Given the description of an element on the screen output the (x, y) to click on. 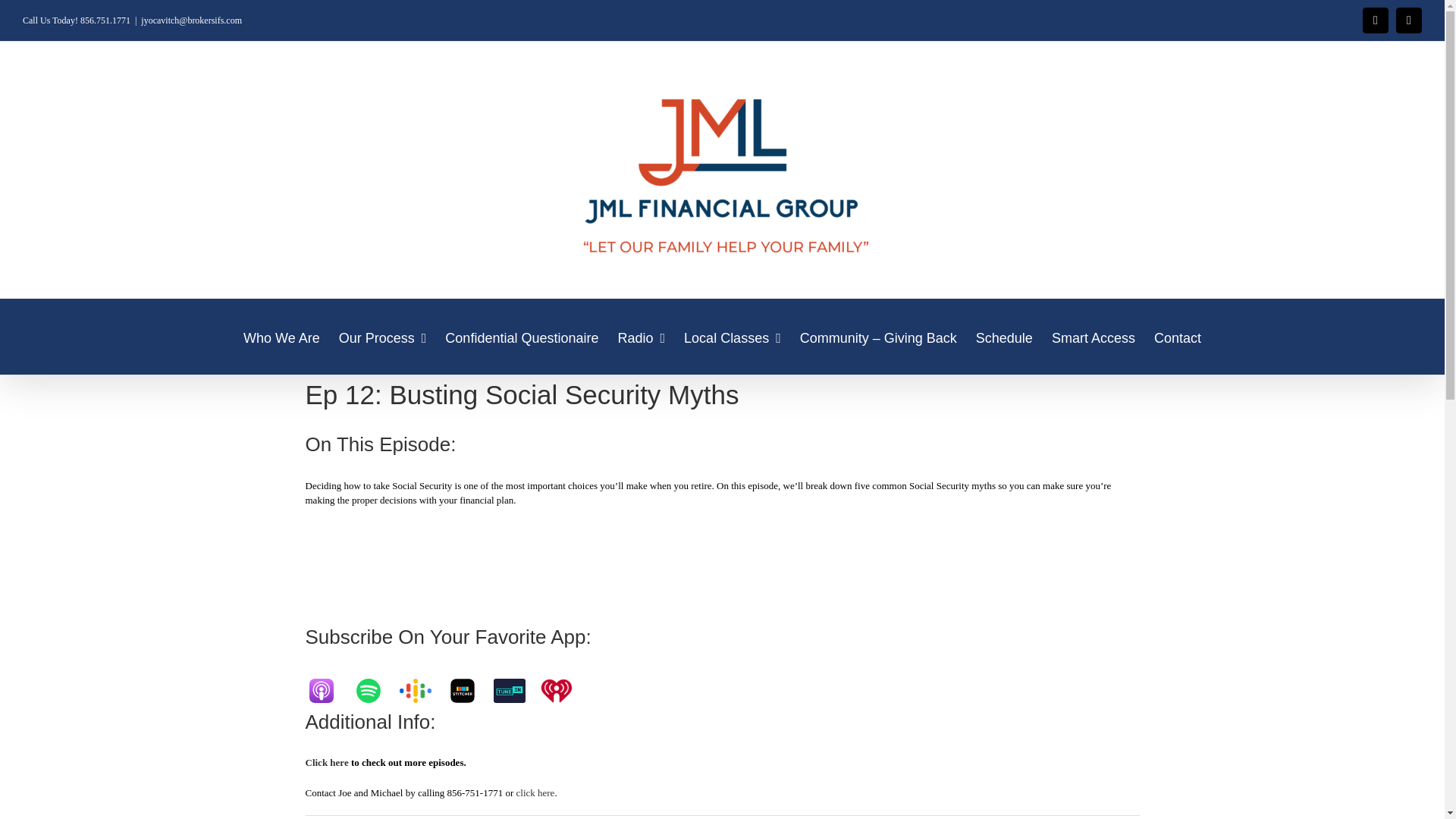
Facebook (1375, 20)
iHeartRadio (563, 690)
Apple-Podcasts (328, 690)
Confidential Questionaire (521, 336)
TuneIn (516, 690)
LinkedIn (1409, 20)
Spotify (375, 690)
LinkedIn (1409, 20)
Facebook (1375, 20)
Who We Are (281, 336)
Local Classes (732, 336)
Smart Access (1093, 336)
Our Process (382, 336)
click here (534, 792)
Stitcher (469, 690)
